Given the description of an element on the screen output the (x, y) to click on. 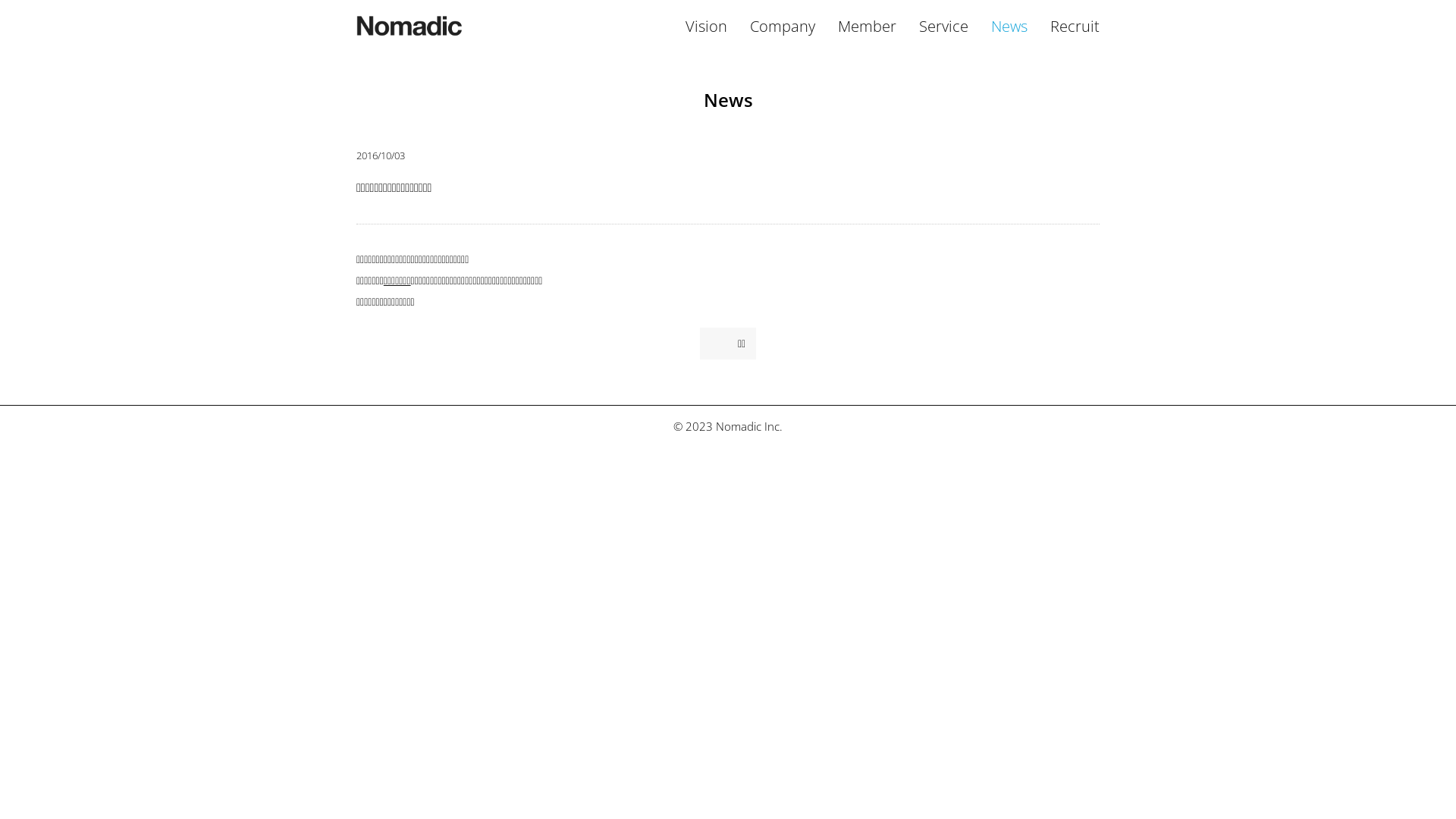
Company Element type: text (782, 25)
Service Element type: text (943, 25)
Member Element type: text (866, 25)
Vision Element type: text (706, 25)
Recruit Element type: text (1074, 25)
